Given the description of an element on the screen output the (x, y) to click on. 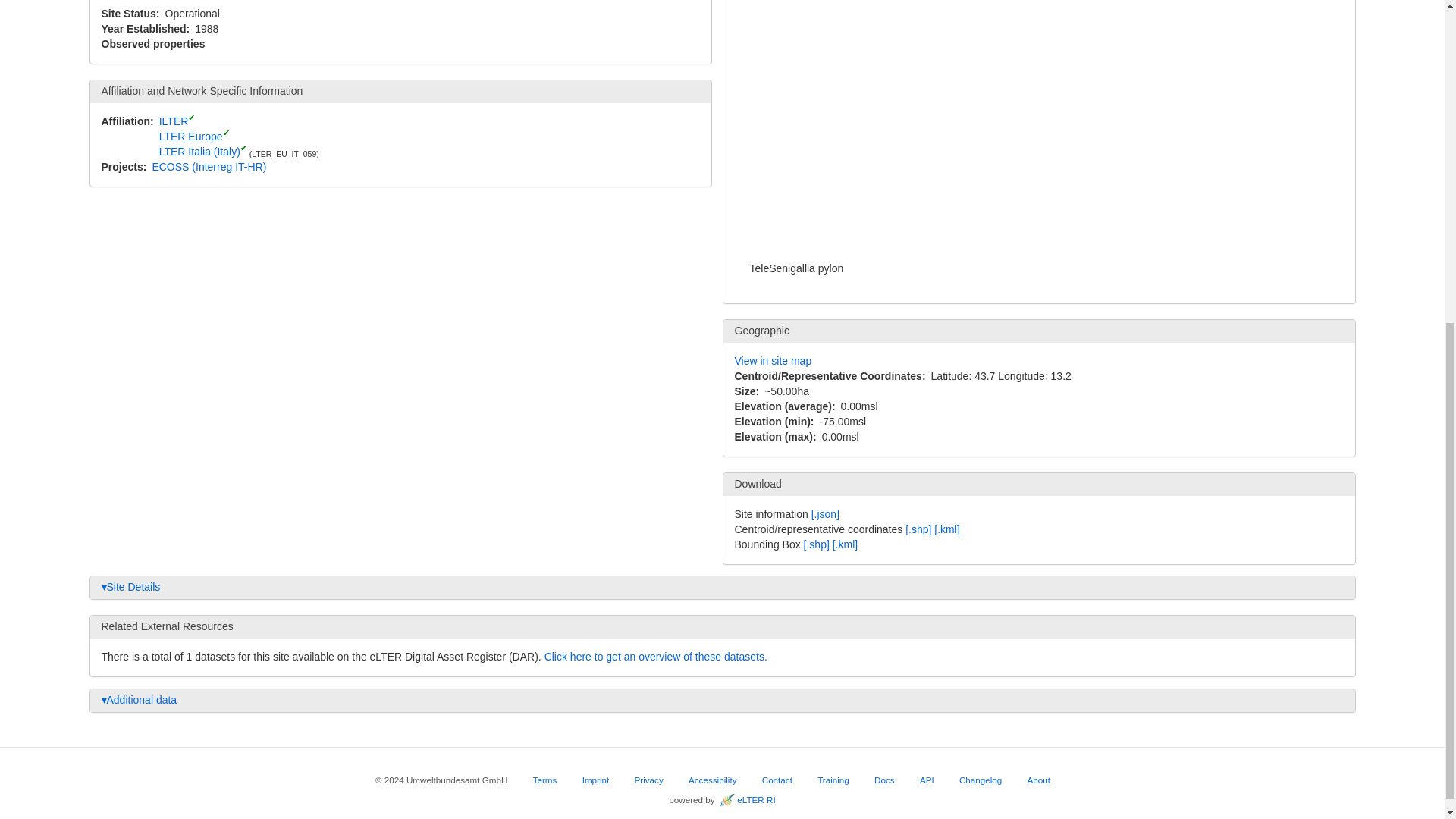
View in site map (771, 360)
ILTER (173, 121)
LTER Europe (190, 136)
Site Details (721, 587)
